Given the description of an element on the screen output the (x, y) to click on. 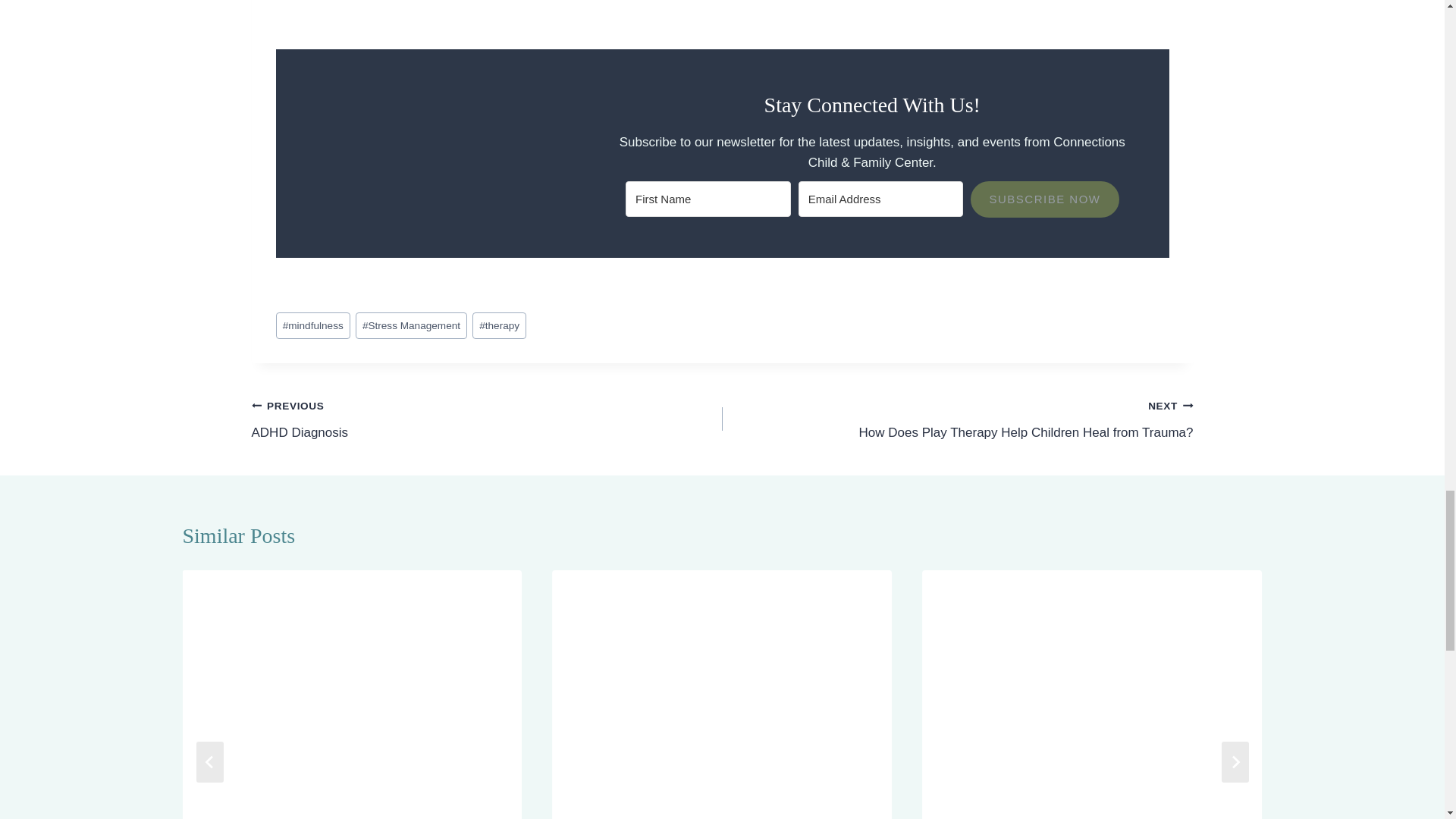
Stress Management (411, 325)
therapy (498, 325)
mindfulness (313, 325)
